Given the description of an element on the screen output the (x, y) to click on. 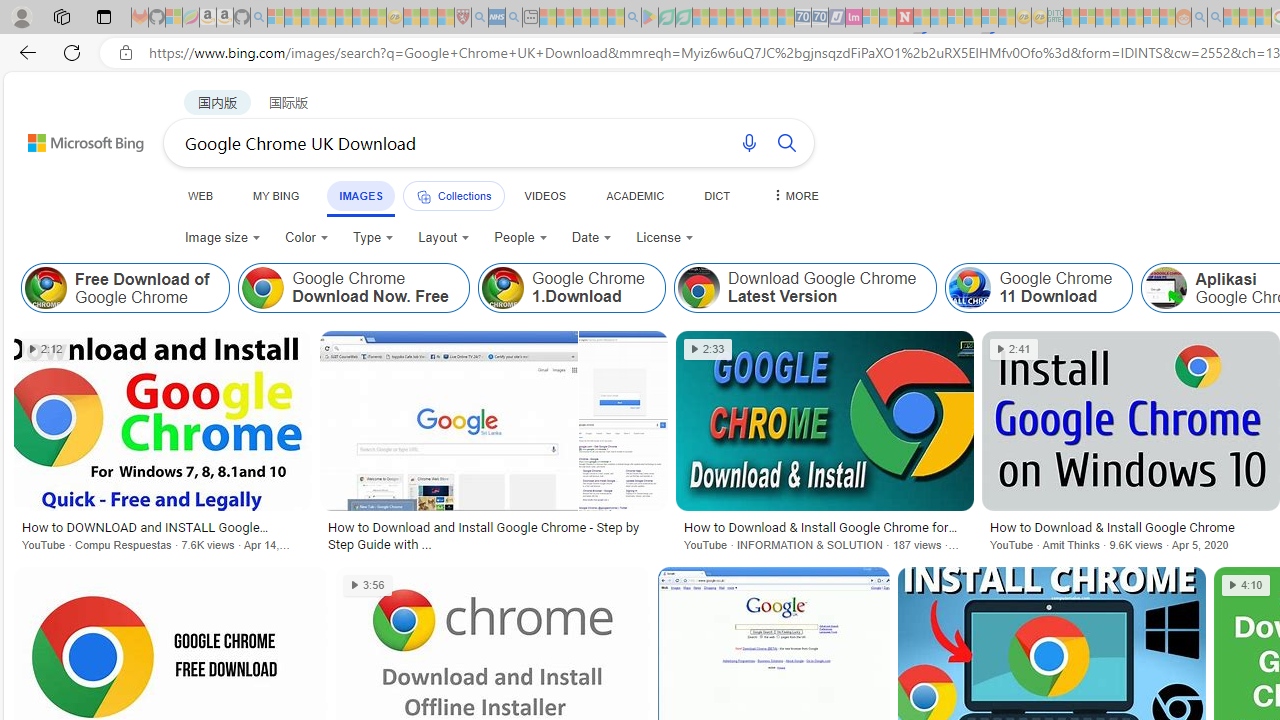
WEB (201, 195)
MORE (793, 195)
ACADEMIC (635, 195)
DICT (717, 195)
Layout (443, 237)
Back to Bing search (73, 138)
Layout (443, 237)
